Given the description of an element on the screen output the (x, y) to click on. 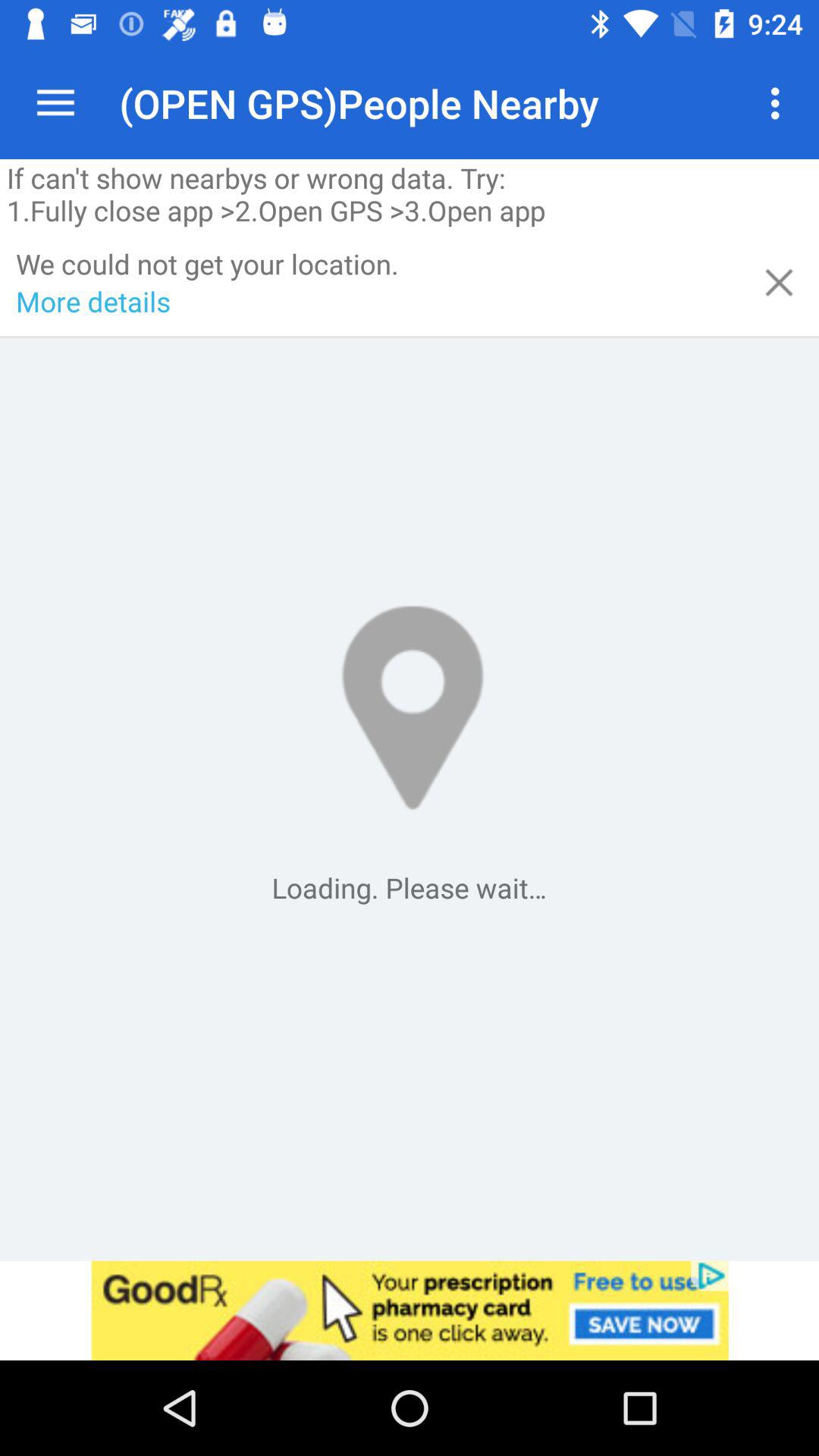
advertisements image (409, 1310)
